Given the description of an element on the screen output the (x, y) to click on. 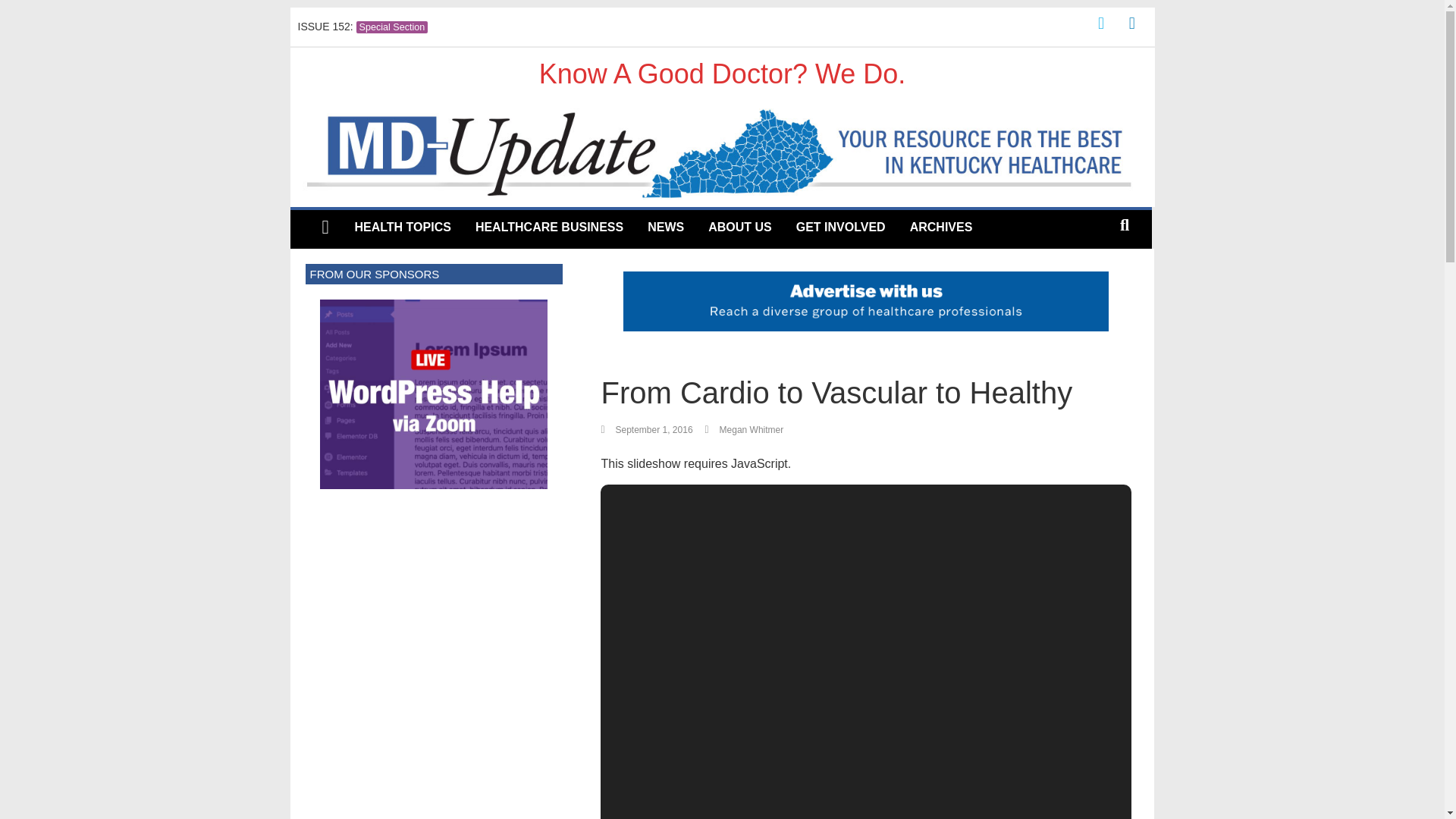
HEALTH TOPICS (402, 226)
NEWS (664, 226)
Posts by Megan Whitmer (751, 429)
HEALTHCARE BUSINESS (548, 226)
ARCHIVES (941, 226)
GET INVOLVED (841, 226)
Special Section (392, 27)
ABOUT US (739, 226)
